Given the description of an element on the screen output the (x, y) to click on. 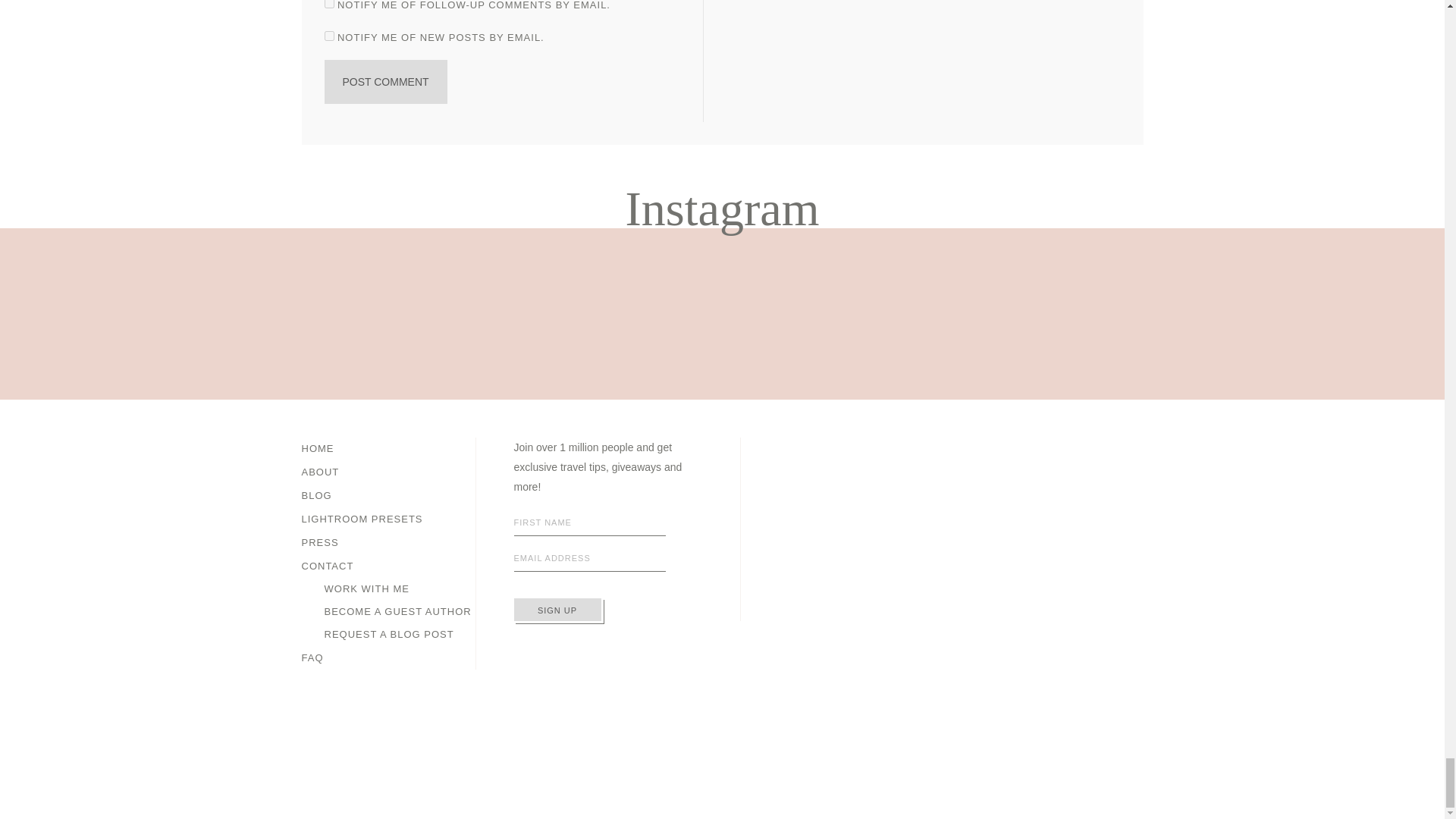
subscribe (329, 35)
subscribe (329, 4)
Post Comment (385, 81)
LIGHTROOM PRESETS (362, 518)
